Given the description of an element on the screen output the (x, y) to click on. 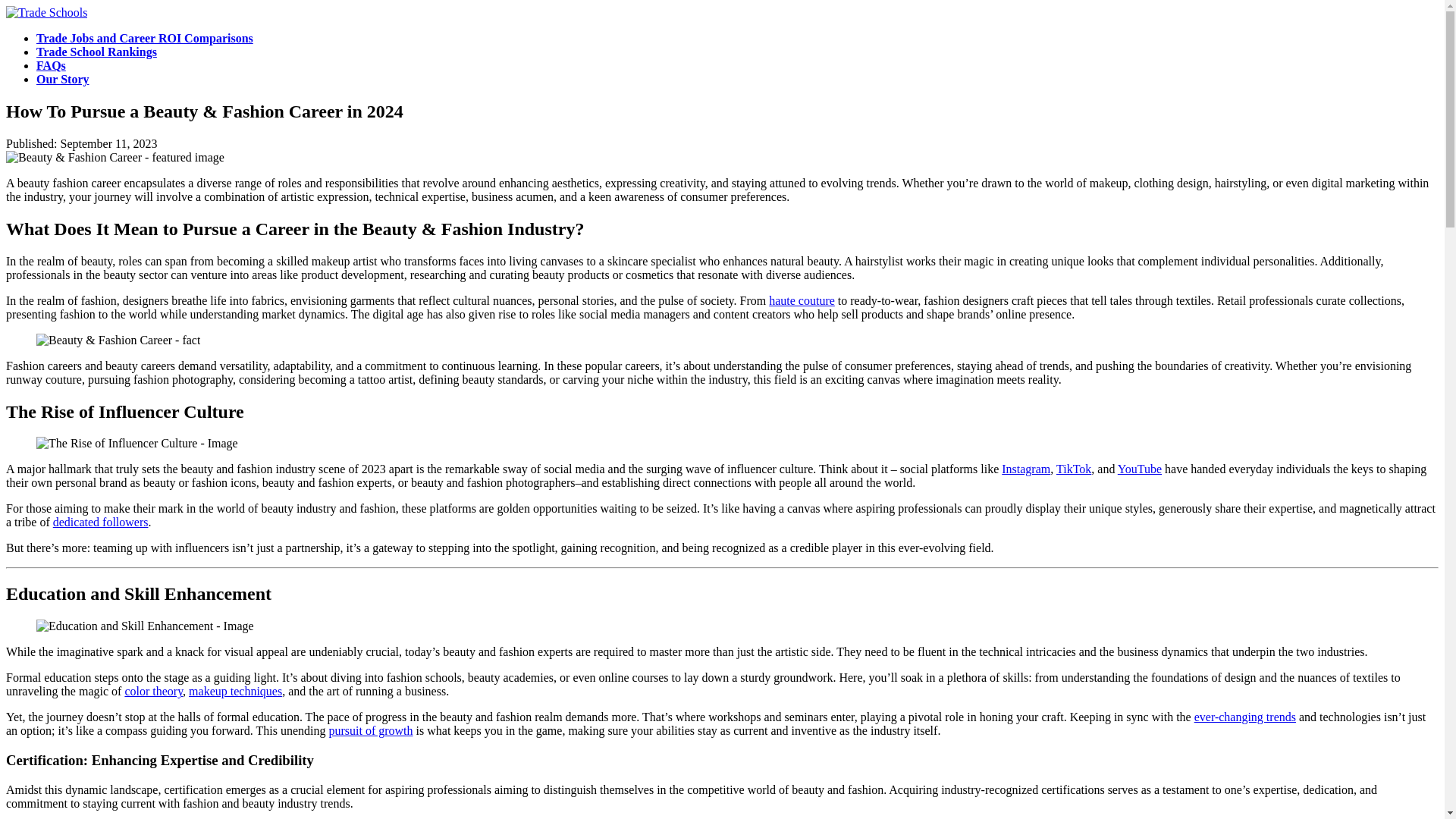
Trade Jobs and Career ROI Comparisons (144, 38)
2023-09-11 (109, 143)
dedicated followers (100, 521)
color theory (153, 690)
Our Story (62, 78)
Instagram (1025, 468)
pursuit of growth (370, 730)
YouTube (1139, 468)
makeup techniques (235, 690)
FAQs (50, 65)
